Given the description of an element on the screen output the (x, y) to click on. 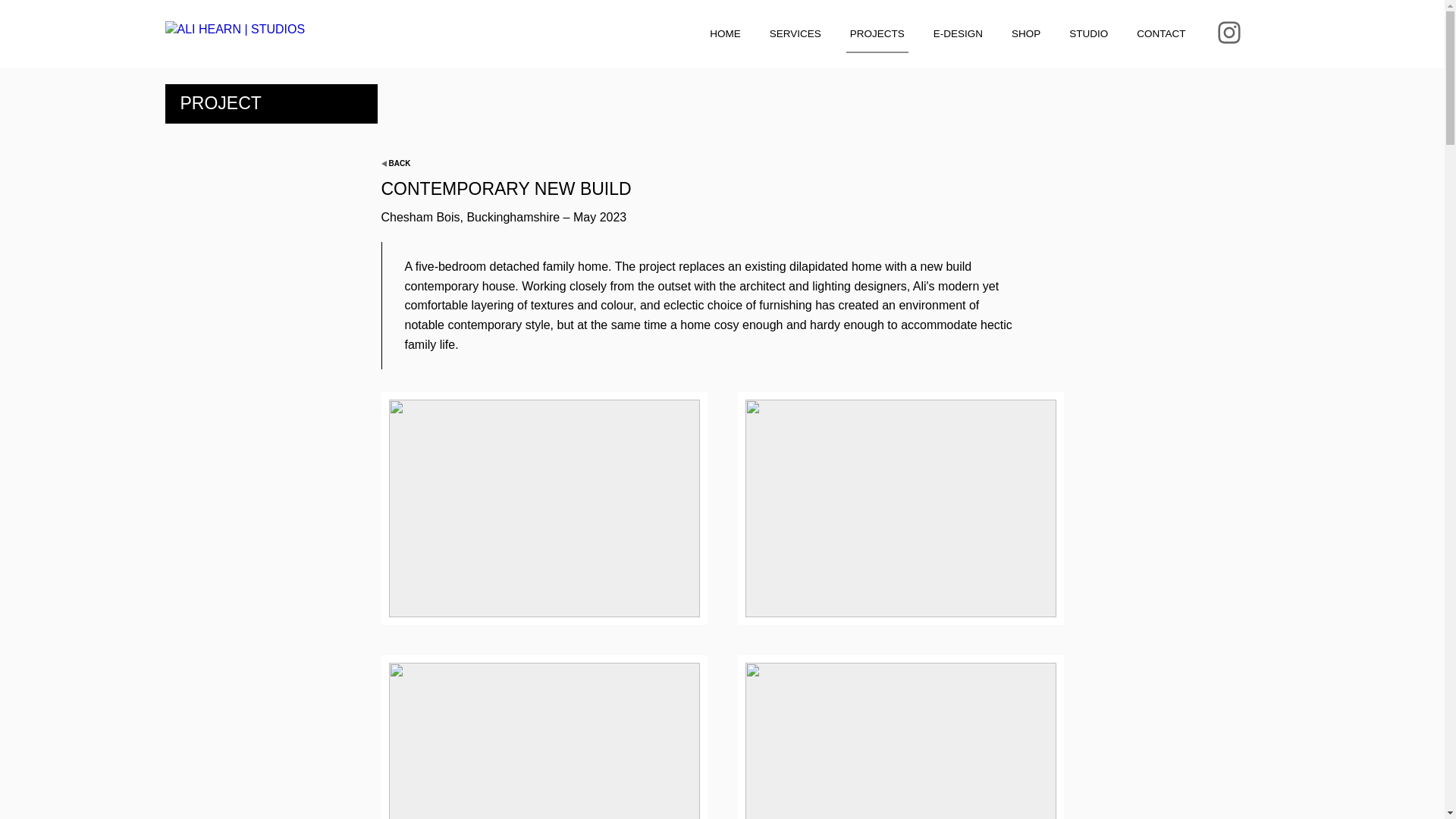
SERVICES (795, 34)
Follow Ali on Instagram (1228, 32)
E-DESIGN (958, 34)
SHOP (1025, 34)
CONTACT (1160, 34)
BACK (396, 163)
Instagram (1228, 32)
STUDIO (1088, 34)
PROJECTS (876, 34)
HOME (725, 34)
